Given the description of an element on the screen output the (x, y) to click on. 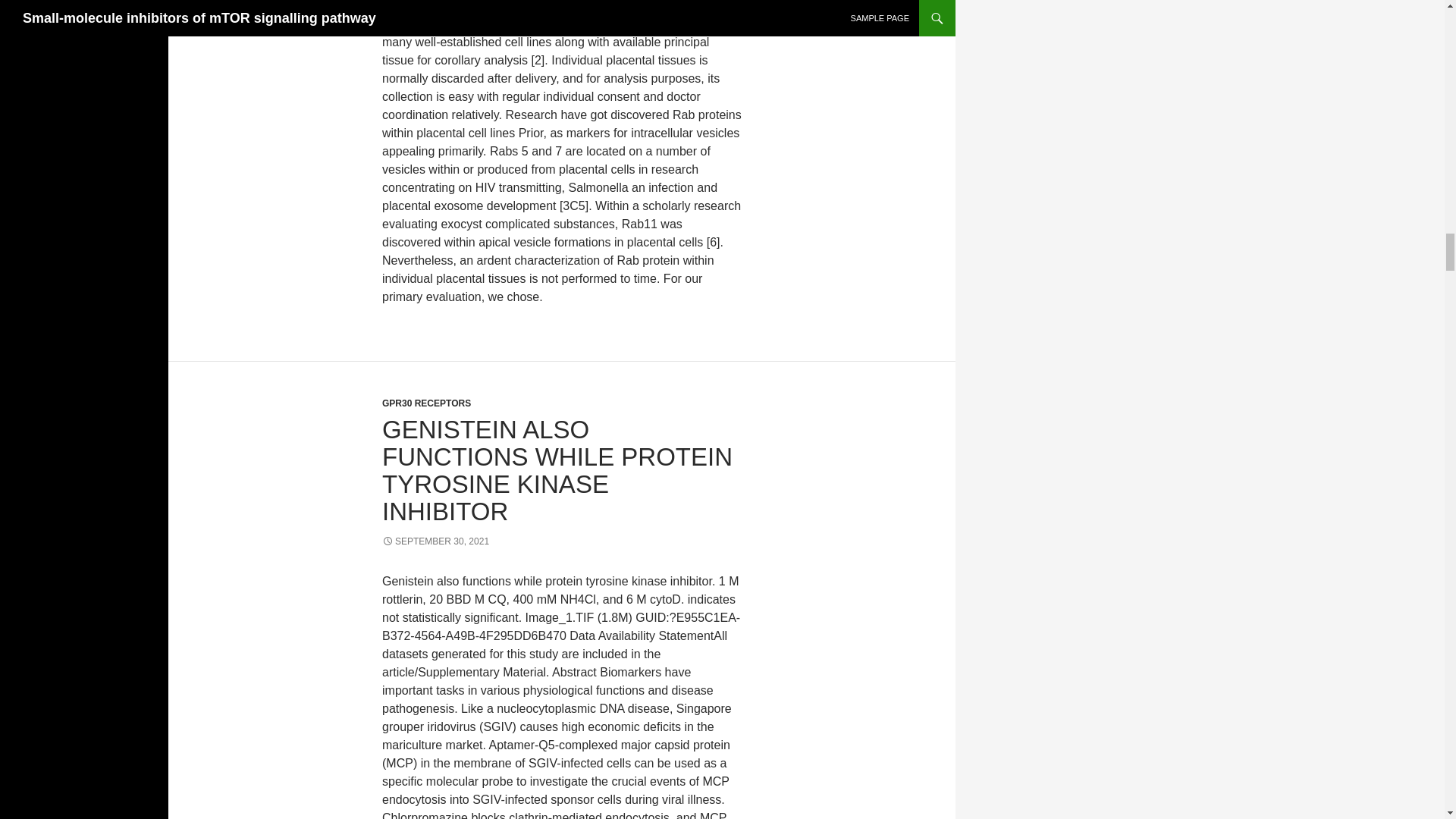
GPR30 RECEPTORS (425, 403)
SEPTEMBER 30, 2021 (435, 541)
